Given the description of an element on the screen output the (x, y) to click on. 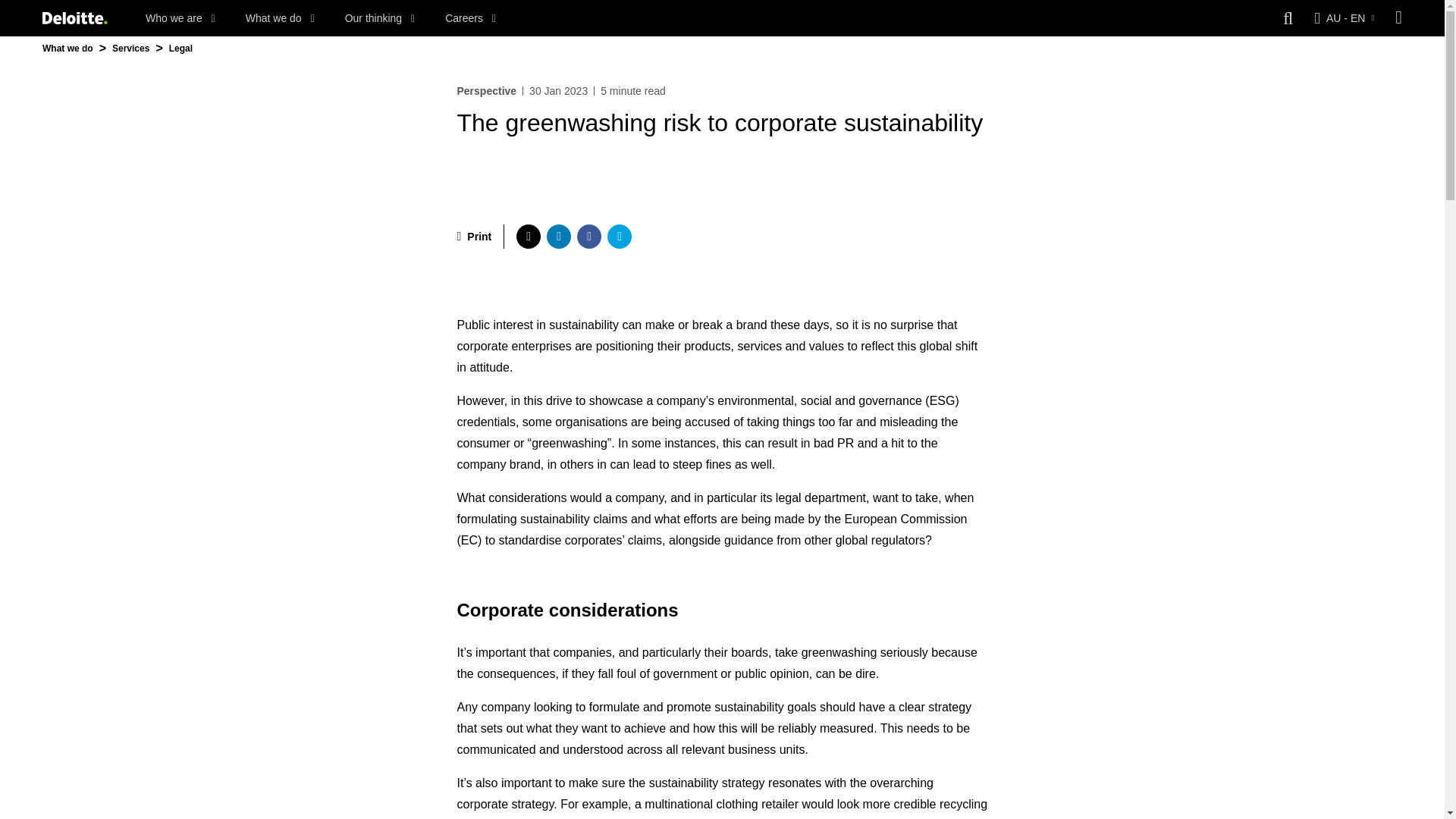
share via linkedin (558, 236)
Who we are (180, 18)
Deloitte (74, 18)
share via email (619, 236)
Our thinking (379, 18)
Careers (470, 18)
What we do (280, 18)
Print (474, 236)
share via twitter (528, 236)
share via facebook (588, 236)
